Given the description of an element on the screen output the (x, y) to click on. 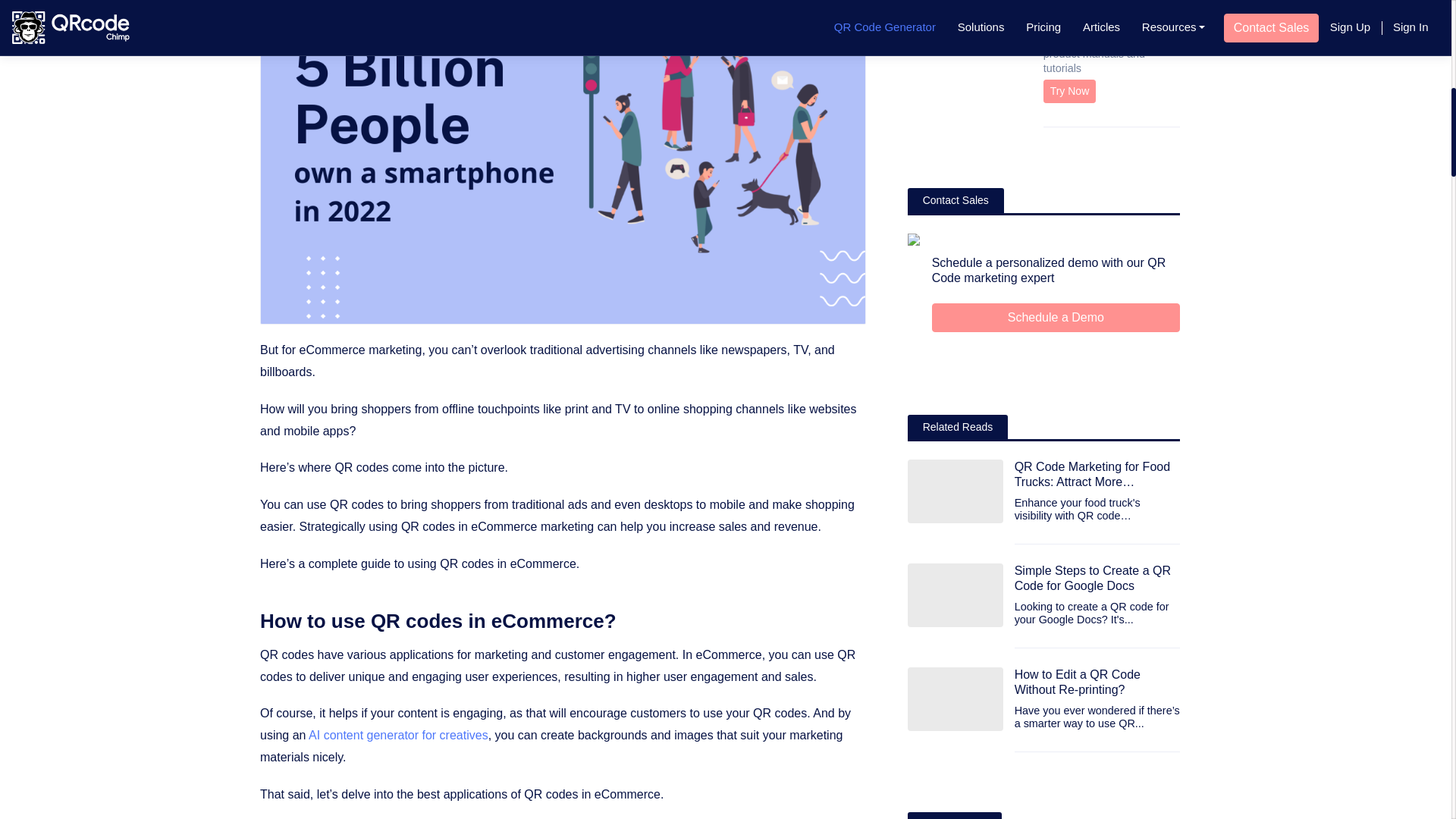
Try Now (1069, 91)
Schedule a Demo (1055, 317)
AI content generator for creatives (397, 735)
